Given the description of an element on the screen output the (x, y) to click on. 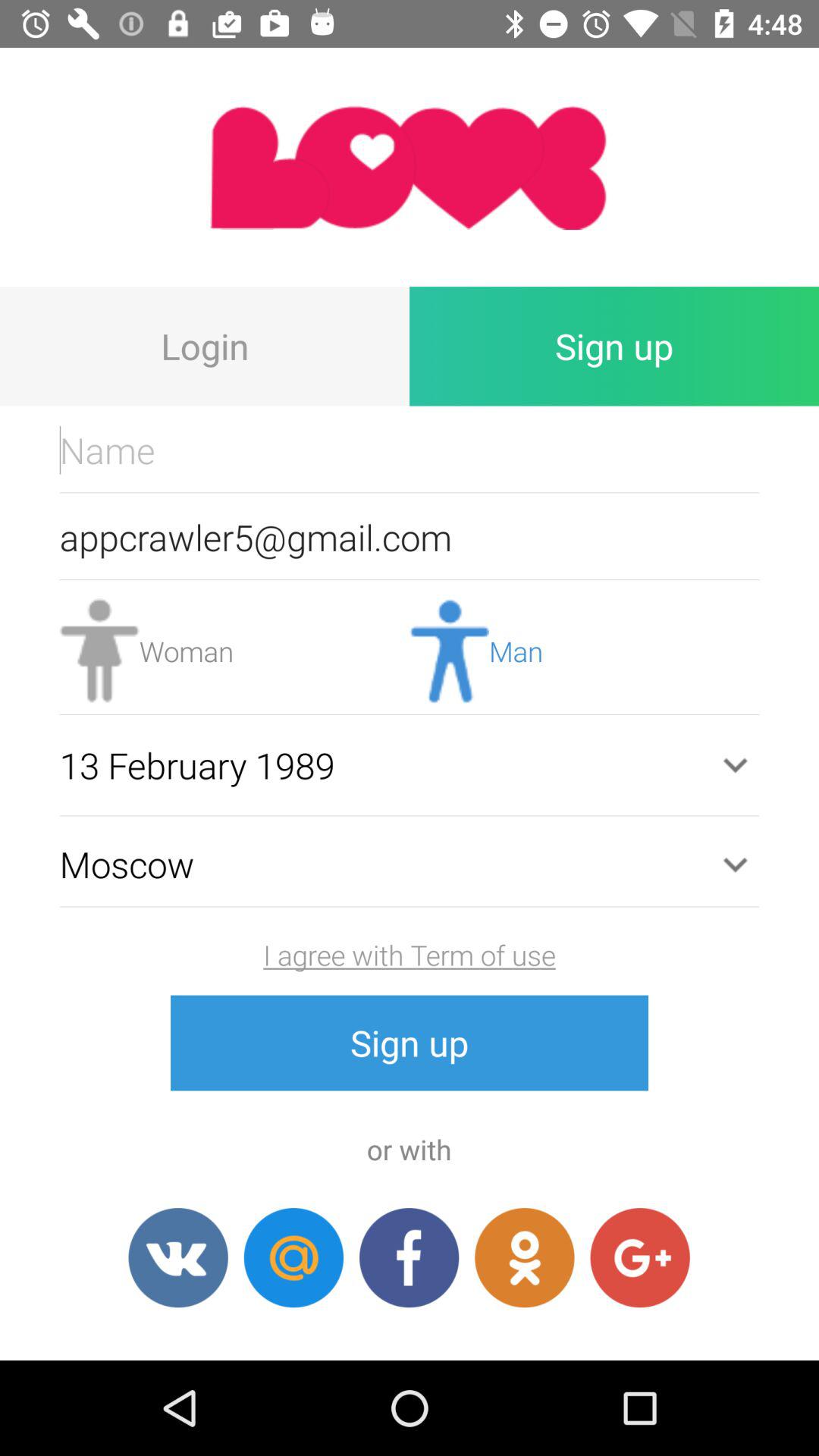
sign up via facebook (408, 1257)
